Given the description of an element on the screen output the (x, y) to click on. 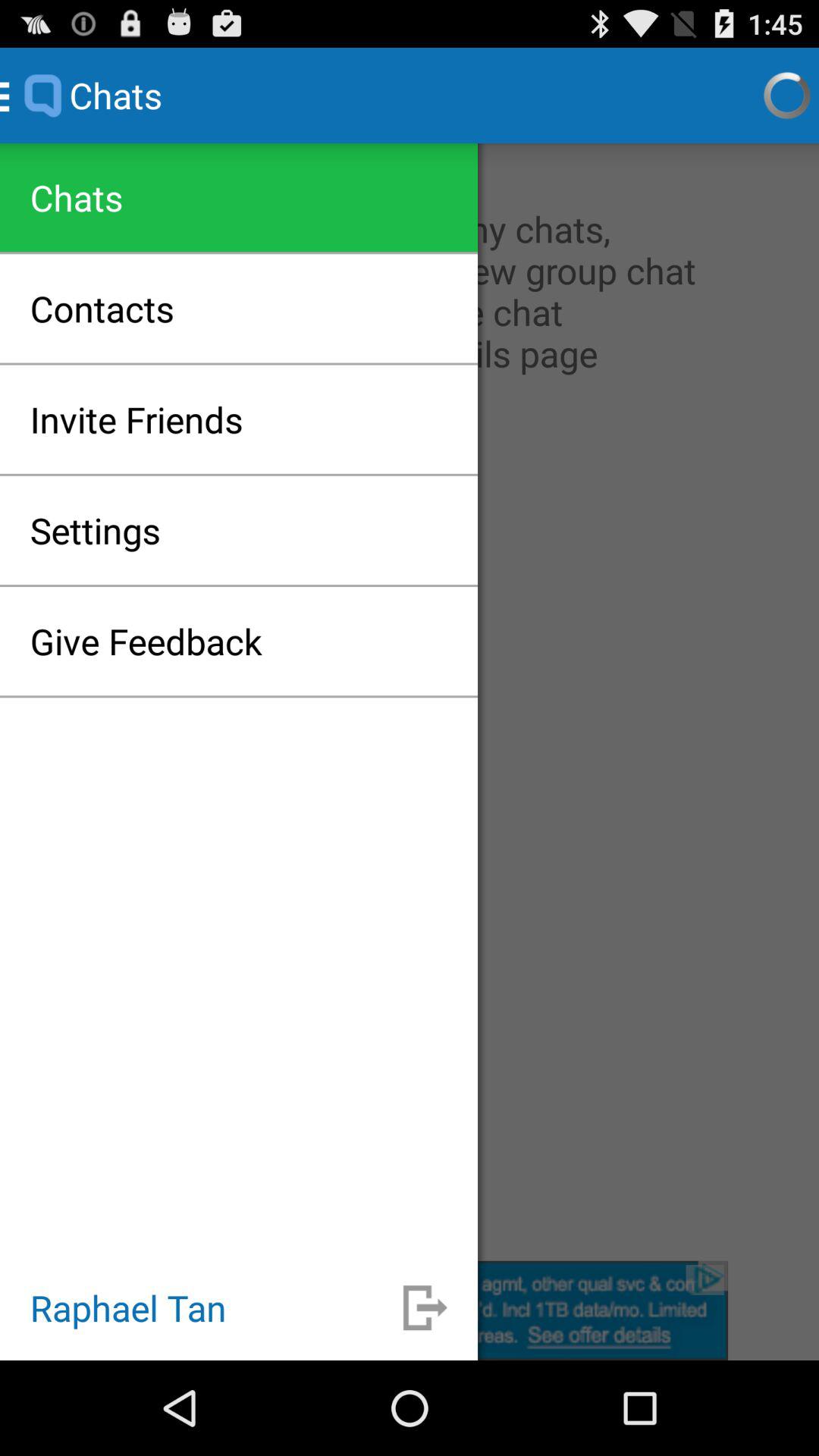
logout the current user (409, 1310)
